Given the description of an element on the screen output the (x, y) to click on. 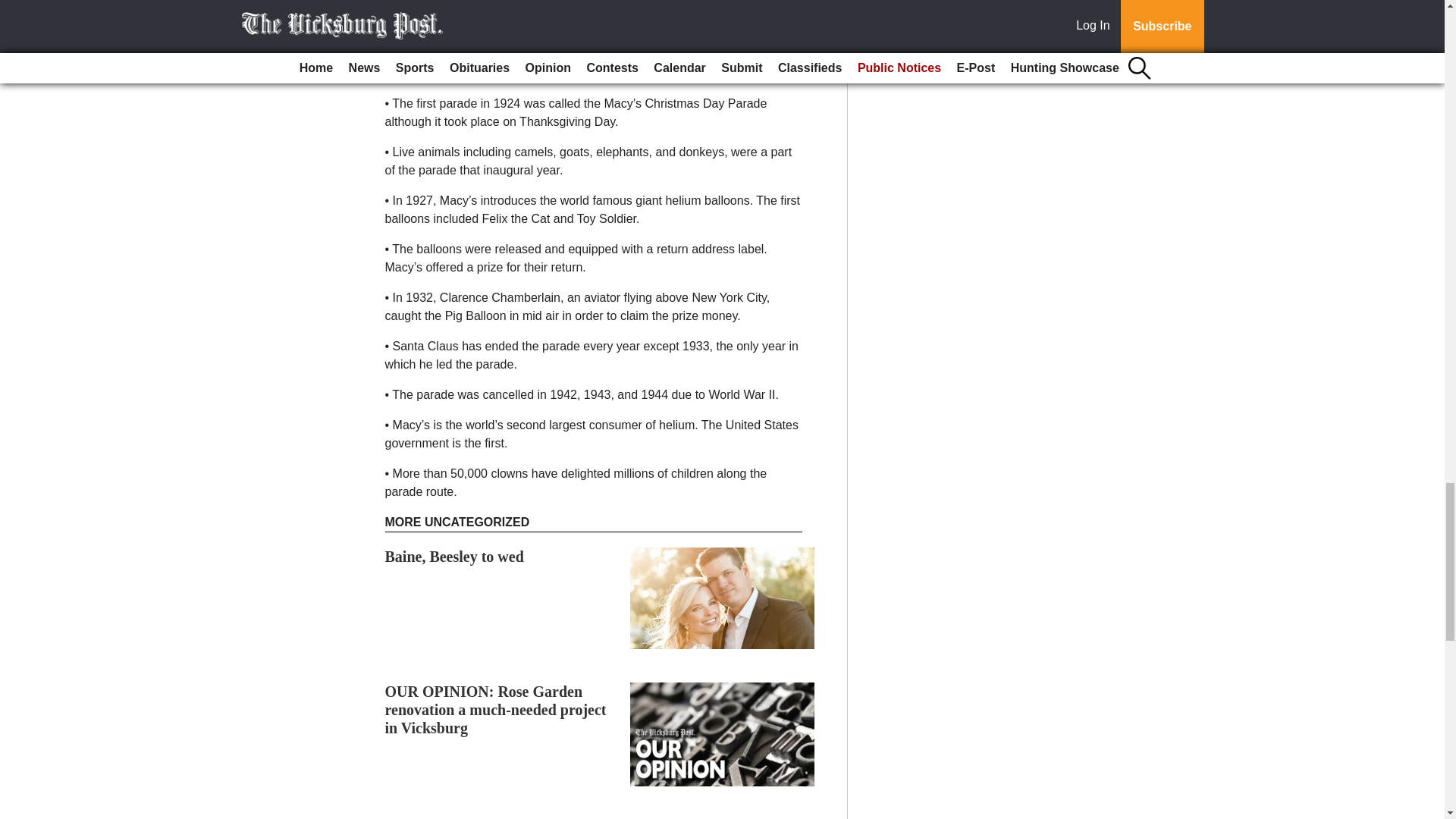
Baine, Beesley to wed (454, 556)
Baine, Beesley to wed (454, 556)
